Given the description of an element on the screen output the (x, y) to click on. 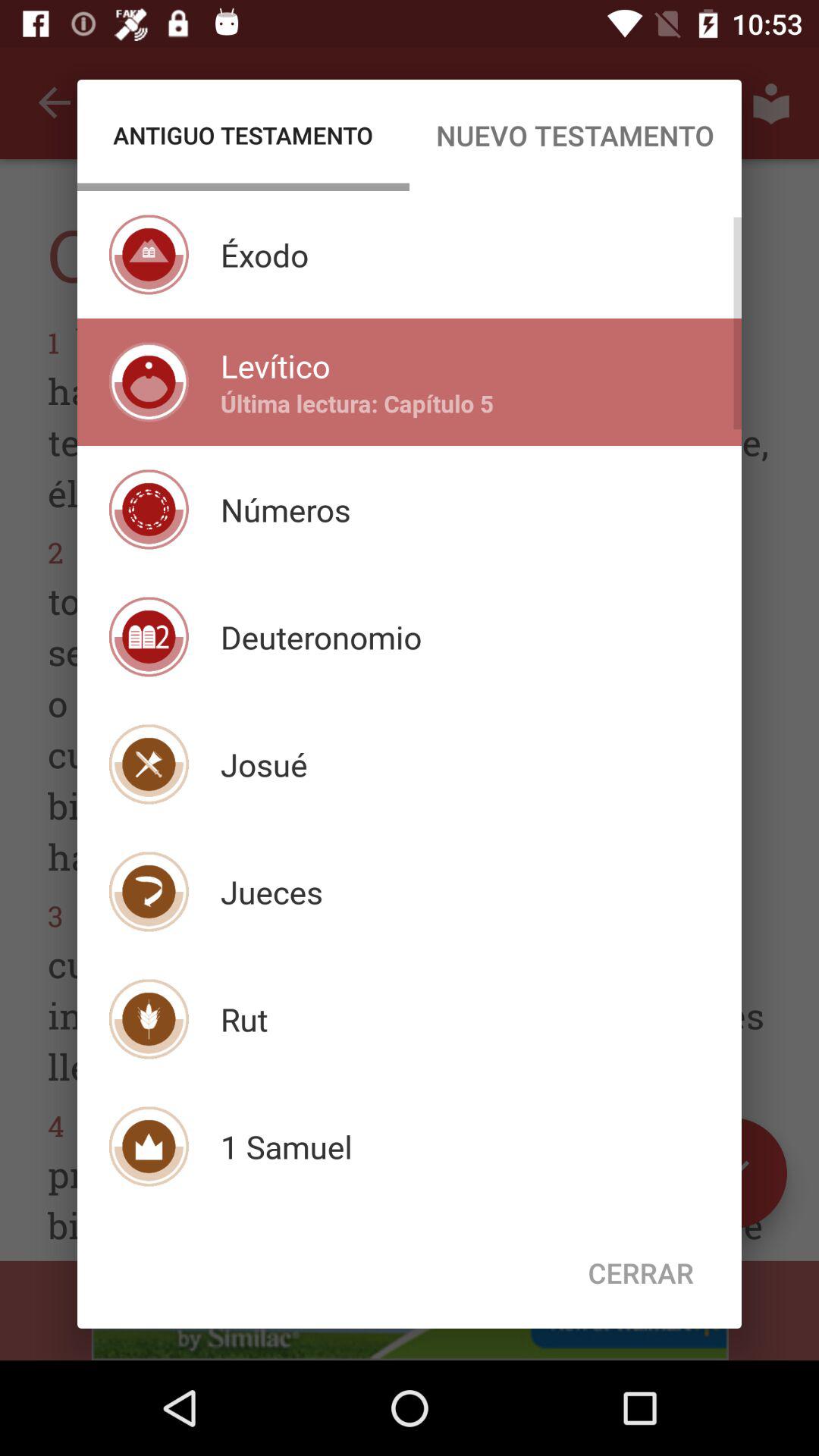
launch the cerrar (640, 1272)
